Given the description of an element on the screen output the (x, y) to click on. 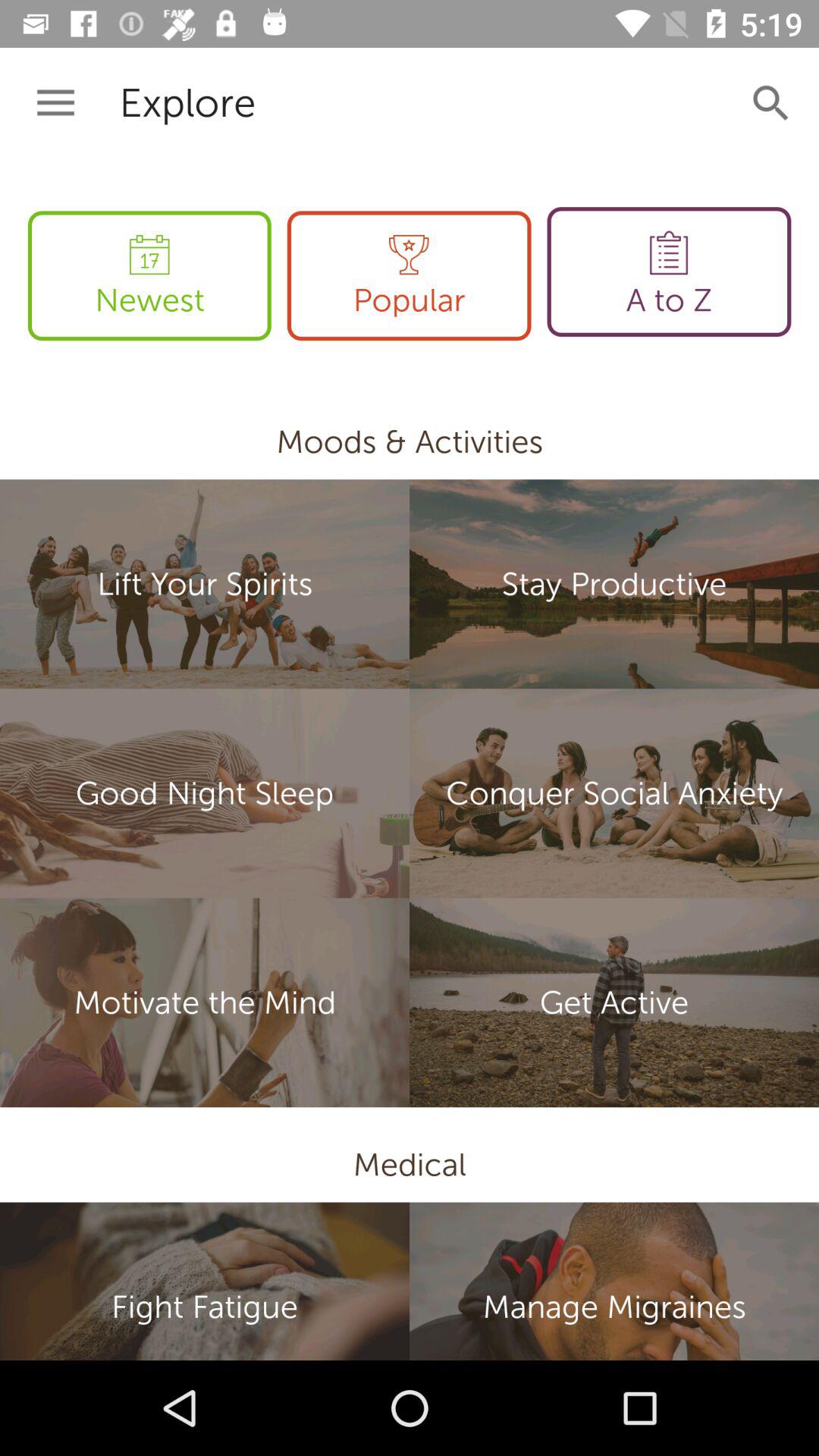
turn off the item next to the popular item (669, 271)
